Given the description of an element on the screen output the (x, y) to click on. 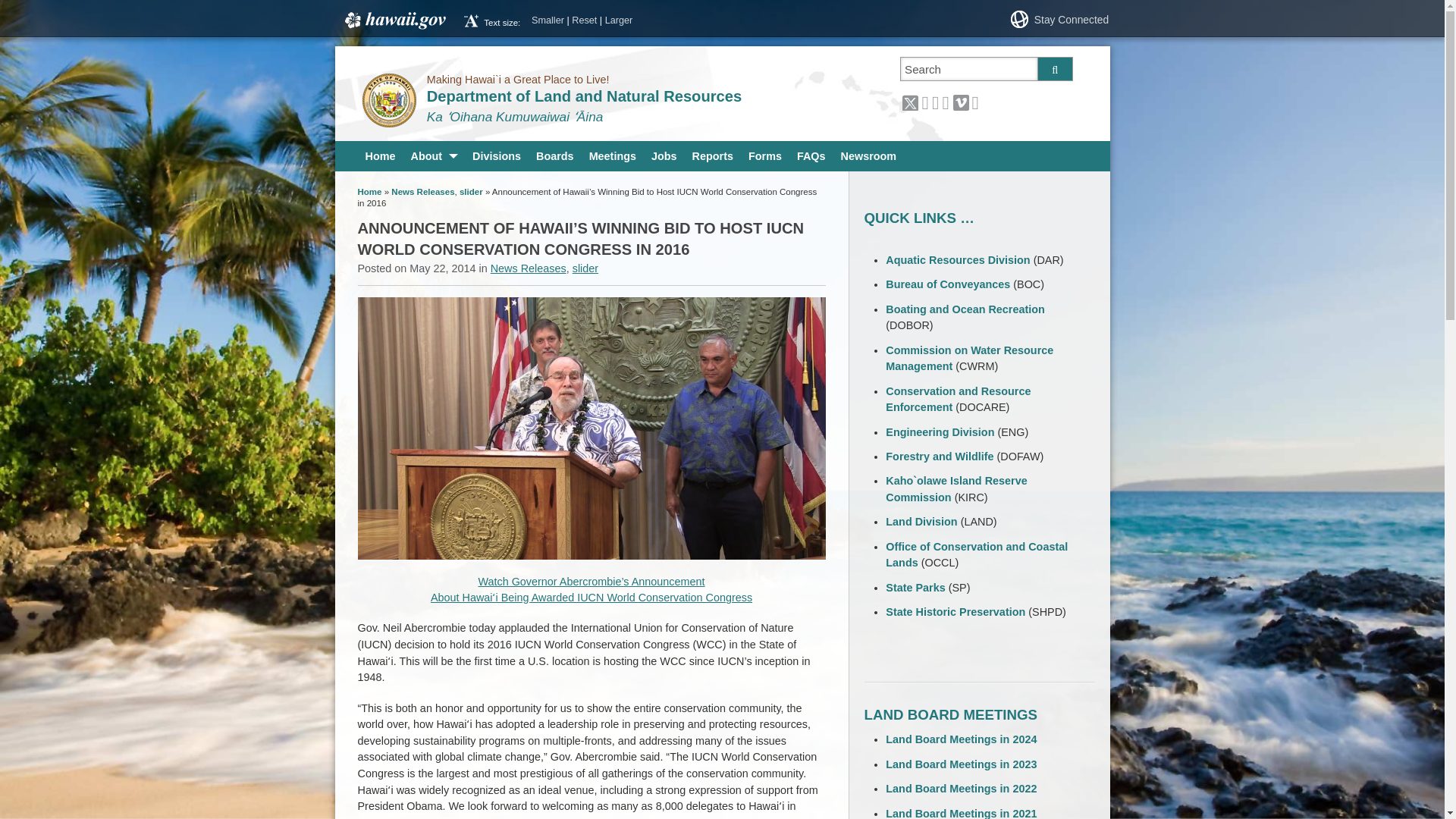
News Releases (422, 191)
Link to Stay Connected (1069, 19)
Newsroom (868, 155)
FAQs (810, 155)
Divisions (496, 155)
Aquatic Resources Division (957, 259)
About (433, 155)
Home (369, 191)
Jobs (663, 155)
slider (471, 191)
Reports (712, 155)
Forms (765, 155)
Link to Hawaii.gov (393, 20)
News Releases (528, 268)
Reset font size (584, 20)
